Given the description of an element on the screen output the (x, y) to click on. 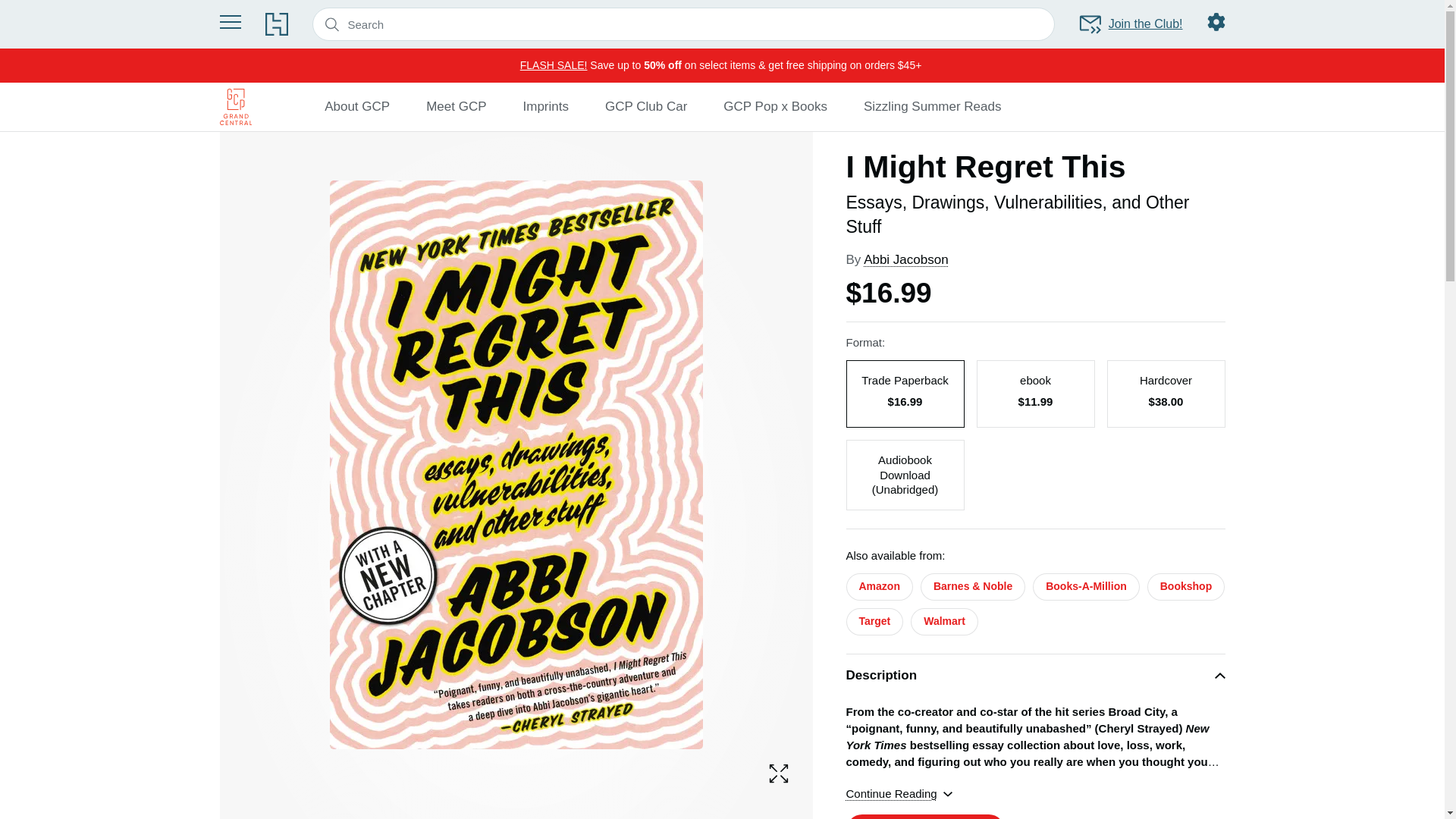
FLASH SALE! (553, 64)
Meet GCP (456, 106)
GCP Pop x Books (775, 106)
About GCP (357, 106)
GCP Club Car (646, 106)
Imprints (545, 106)
Join the Club! (1130, 24)
Go to Hachette Book Group home (276, 24)
